Given the description of an element on the screen output the (x, y) to click on. 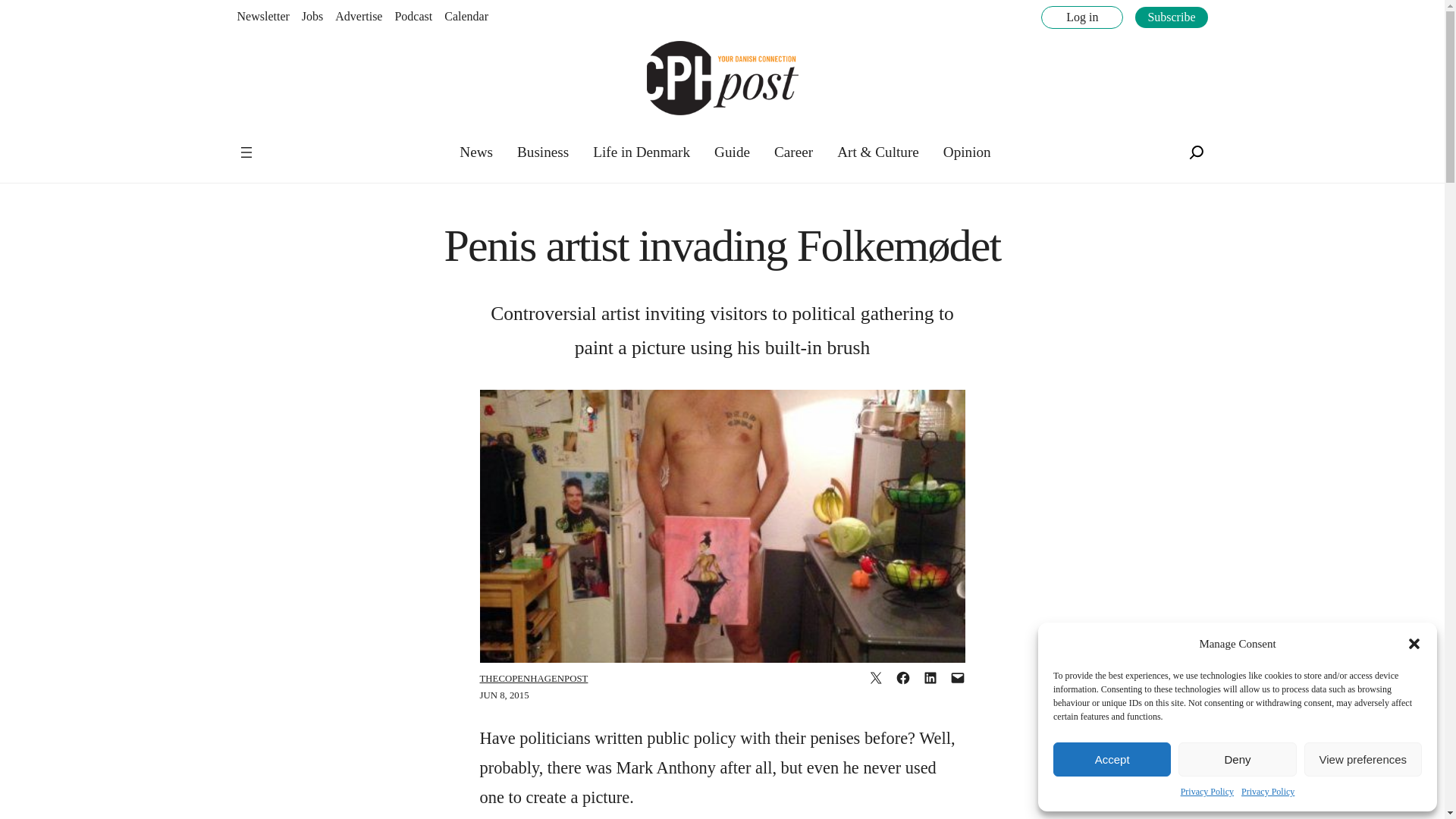
Privacy Policy (1267, 791)
Open search (1196, 152)
Deny (1236, 759)
Posts by TheCopenhagenPost (533, 678)
The Copenhagen Post (284, 143)
View preferences (1363, 759)
Accept (1111, 759)
Privacy Policy (1206, 791)
